Given the description of an element on the screen output the (x, y) to click on. 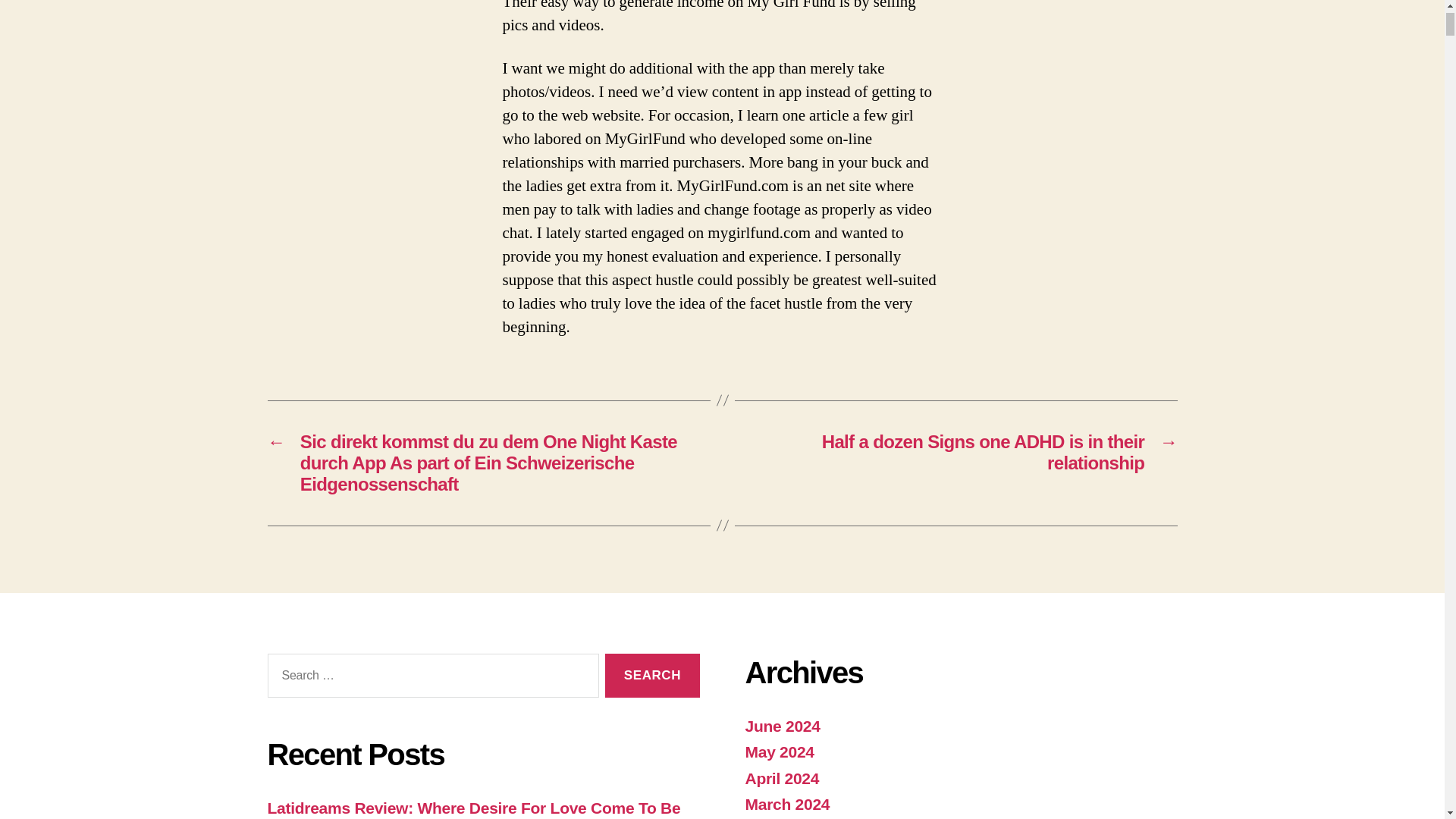
Search (651, 675)
Latidreams Review: Where Desire For Love Come To Be Fact (472, 809)
Search (651, 675)
Search (651, 675)
